Given the description of an element on the screen output the (x, y) to click on. 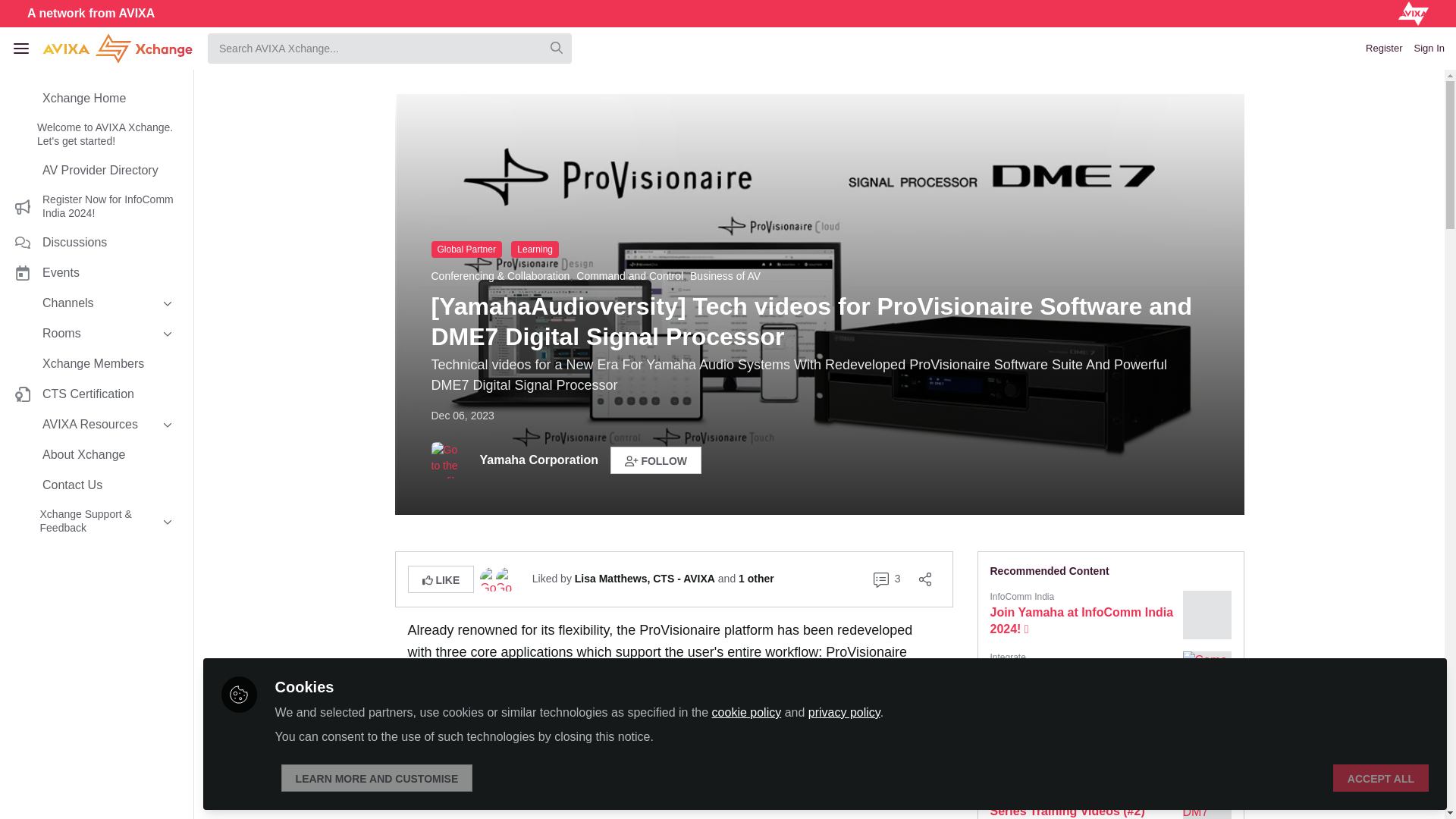
Register Now for InfoComm India 2024! (96, 206)
Rooms (96, 333)
Register Now for InfoComm India 2024! (96, 206)
Xchange Home (96, 98)
Discussions (96, 242)
Events (96, 272)
Welcome to AVIXA Xchange. Let's get started! (96, 134)
Menu (21, 48)
Xchange Home (96, 98)
Rooms (96, 333)
